Given the description of an element on the screen output the (x, y) to click on. 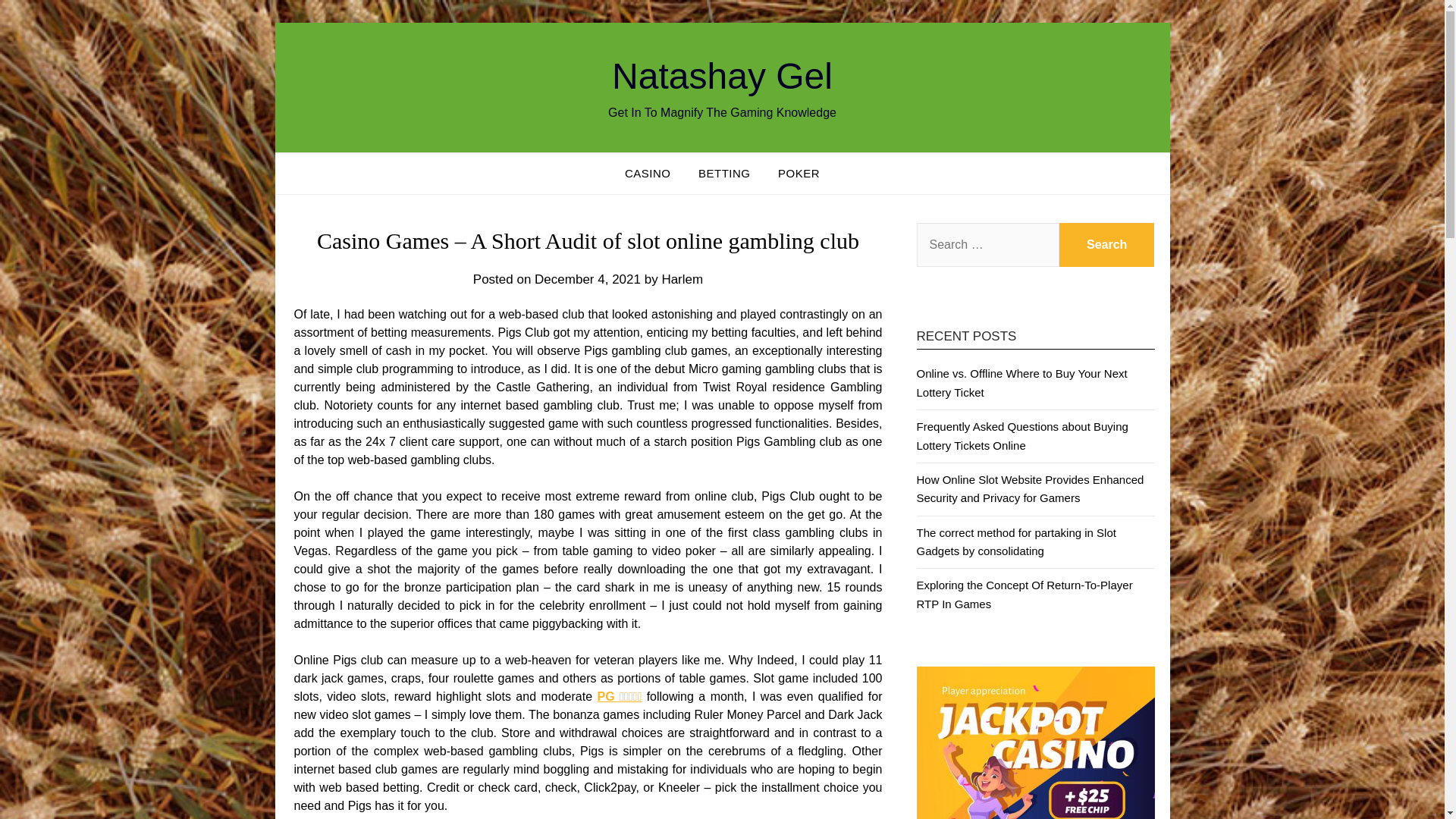
Search (1106, 244)
CASINO (647, 173)
POKER (798, 173)
December 4, 2021 (587, 278)
Natashay Gel (721, 76)
Online vs. Offline Where to Buy Your Next Lottery Ticket (1020, 382)
Harlem (682, 278)
Search (1106, 244)
